Given the description of an element on the screen output the (x, y) to click on. 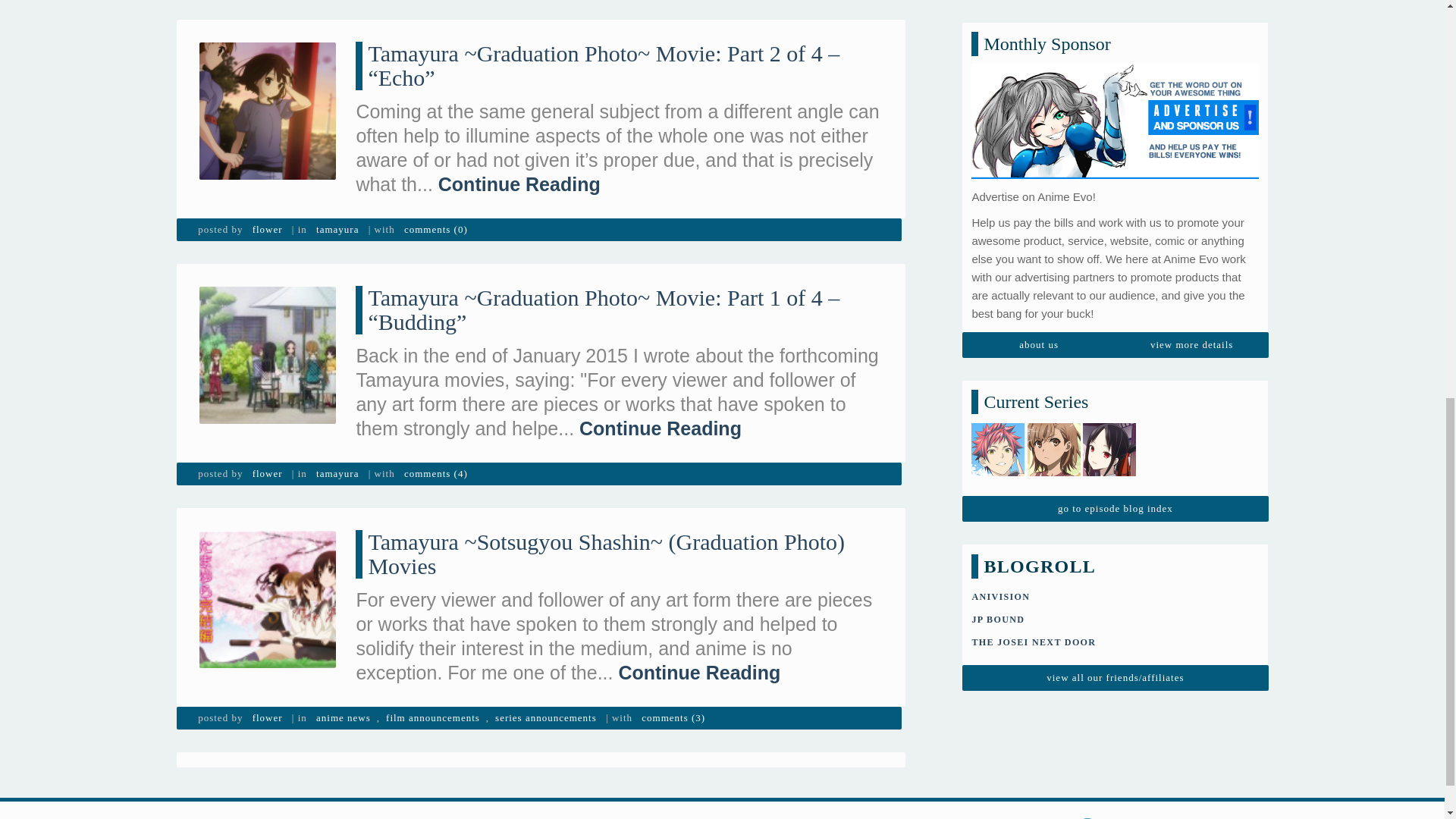
ANIVISION (1000, 119)
go to episode blog index (1115, 31)
Posts by Flower (267, 229)
Railgun T EP Blog (1053, 0)
Continue Reading (518, 183)
tamayura (337, 229)
JP BOUND (998, 142)
Posts by Flower (267, 717)
Shokugeki 5 EP Blog (998, 0)
Kaguya-sama 2 EP Blog (1109, 0)
flower (267, 473)
flower (267, 229)
Posts by Flower (267, 473)
Great Anime Blog run by Dee! (1033, 164)
Continue Reading (660, 427)
